Given the description of an element on the screen output the (x, y) to click on. 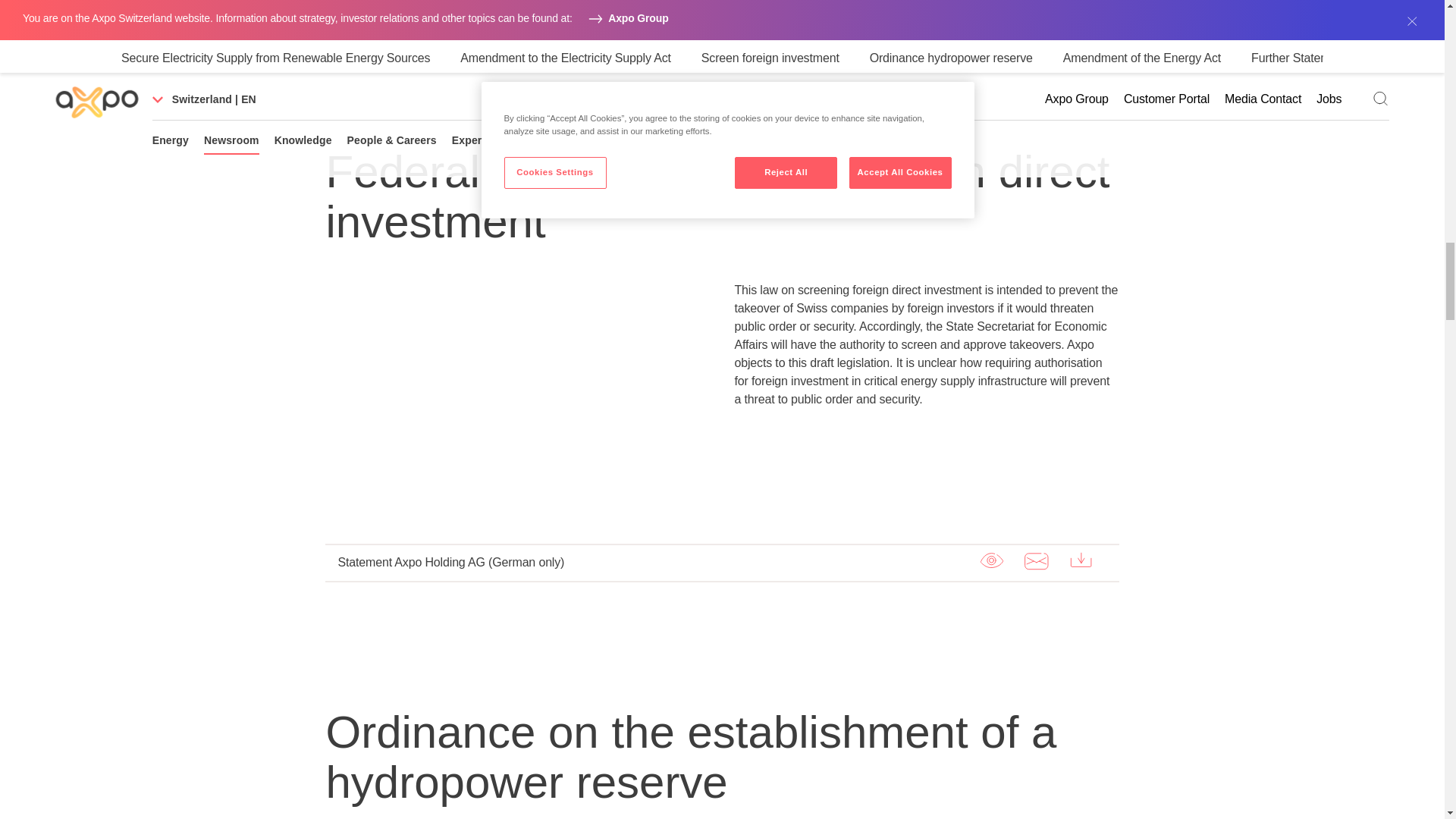
Send email (1036, 560)
Send email (1036, 6)
